Given the description of an element on the screen output the (x, y) to click on. 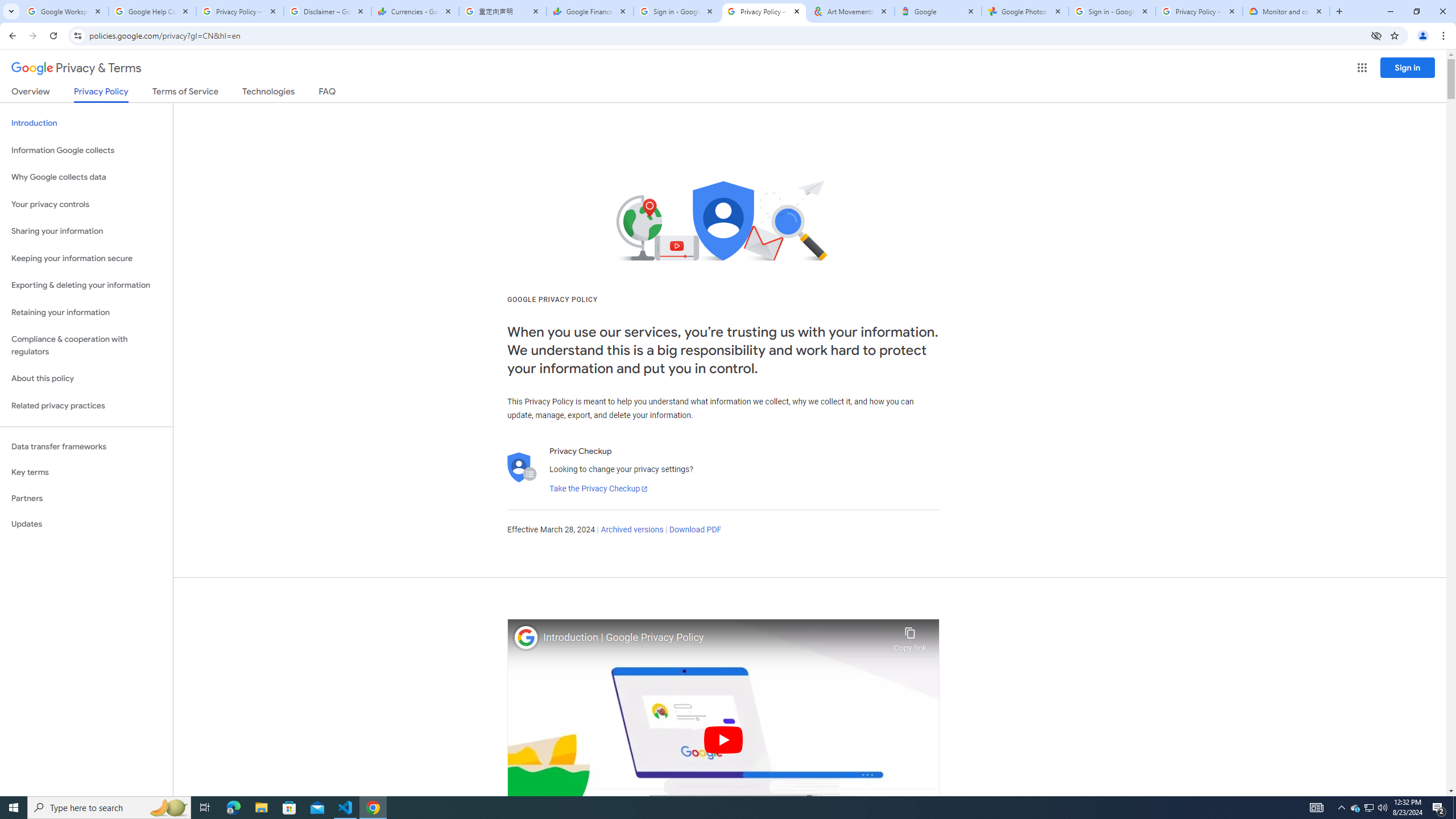
Introduction (86, 122)
Play (723, 739)
Copy link (909, 636)
Sign in - Google Accounts (1111, 11)
Why Google collects data (86, 176)
Archived versions (631, 529)
Google (938, 11)
Your privacy controls (86, 204)
